Given the description of an element on the screen output the (x, y) to click on. 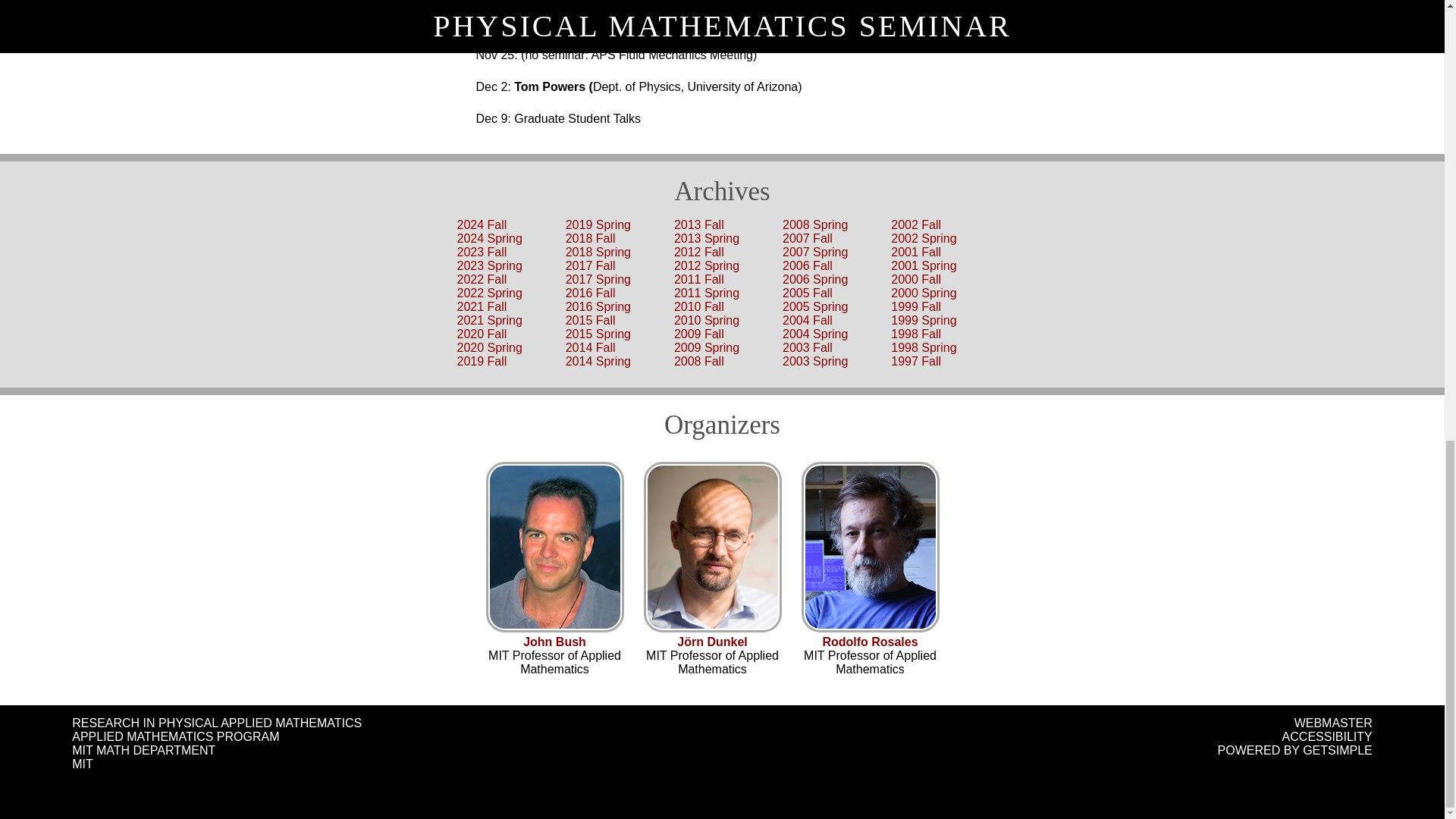
2018 Spring (598, 251)
2006 Fall (807, 265)
2010 Spring (706, 319)
2019 Spring (598, 224)
2018 Fall (590, 237)
2019 Fall (481, 360)
2006 Spring (815, 278)
2018 Fall (590, 237)
2021 Fall (481, 306)
2017 Fall (590, 265)
